Given the description of an element on the screen output the (x, y) to click on. 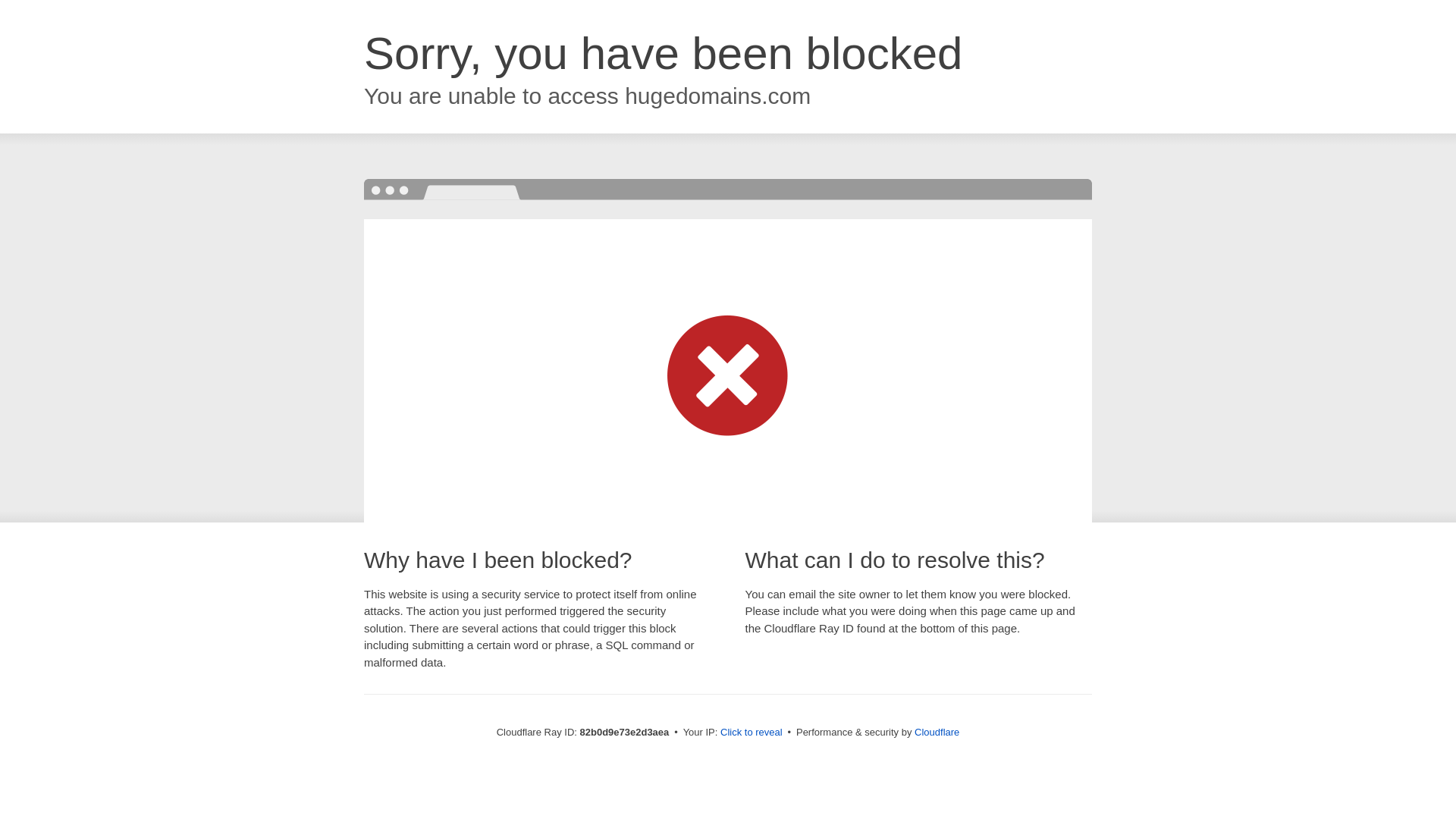
Click to reveal Element type: text (751, 732)
Cloudflare Element type: text (936, 731)
